Given the description of an element on the screen output the (x, y) to click on. 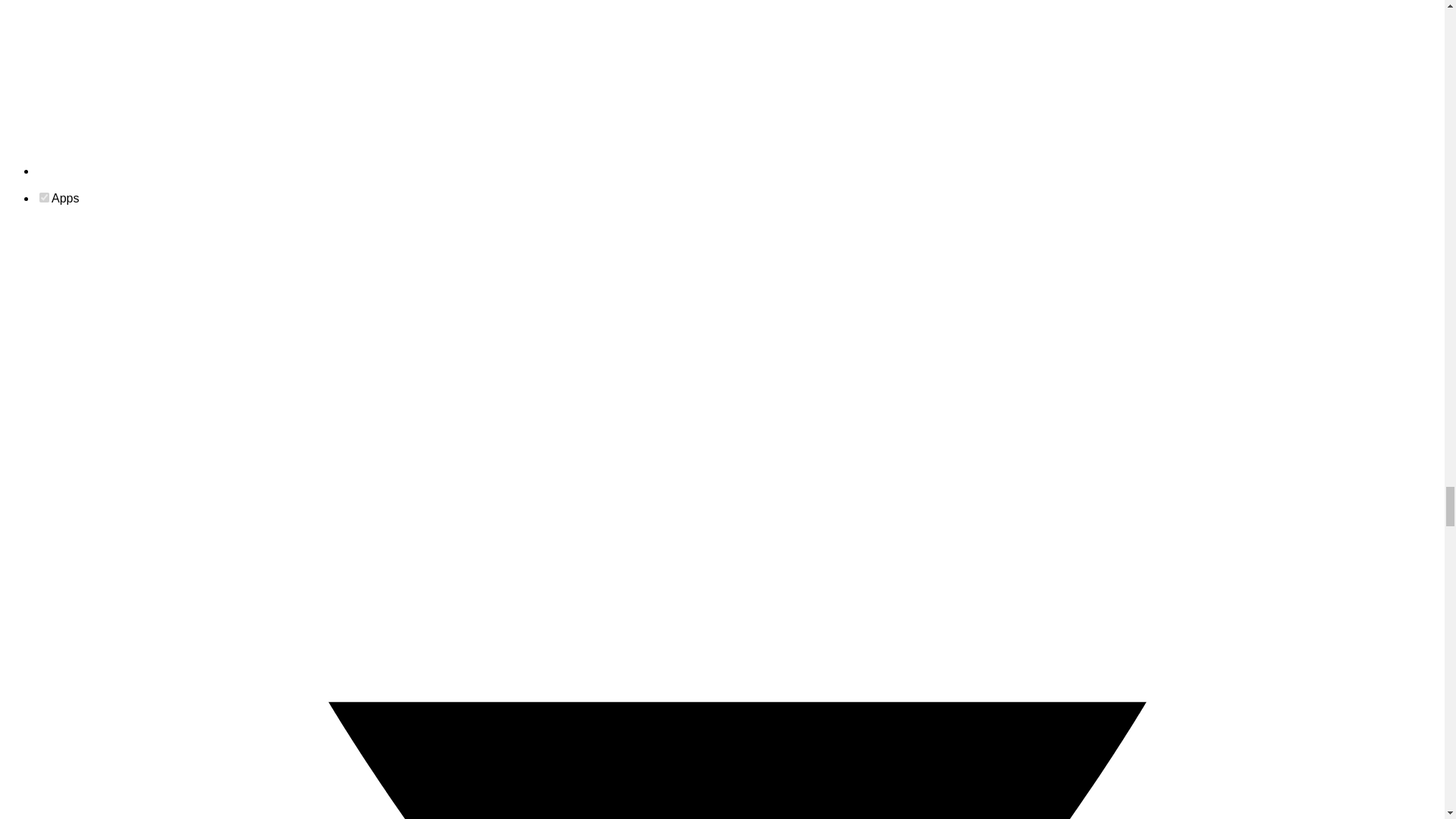
on (44, 197)
